Given the description of an element on the screen output the (x, y) to click on. 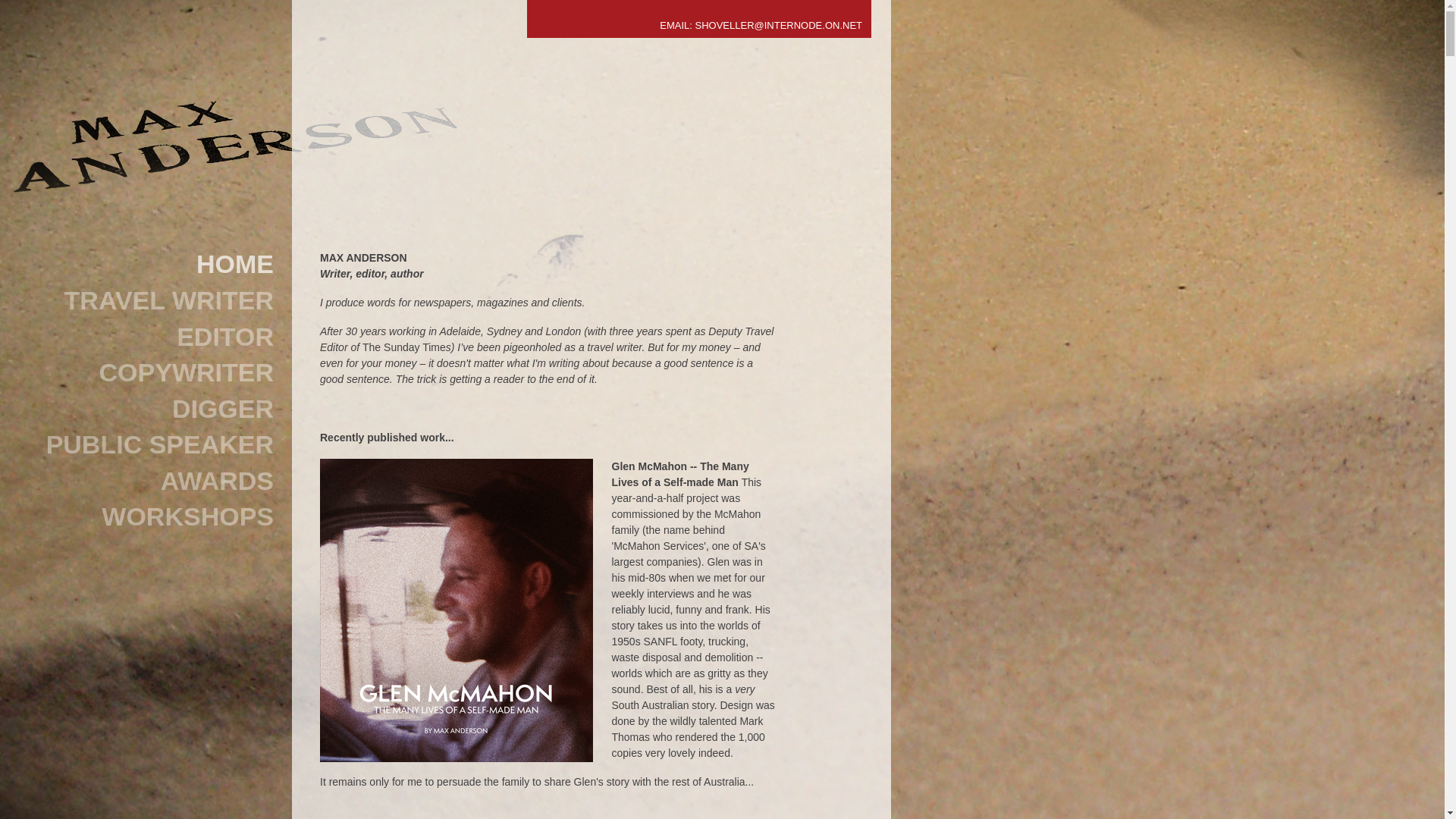
WORKSHOPS Element type: text (151, 516)
AWARDS Element type: text (151, 480)
SHOVELLER@INTERNODE.ON.NET Element type: text (778, 25)
TRAVEL WRITER Element type: text (151, 300)
EDITOR Element type: text (151, 336)
PUBLIC SPEAKER Element type: text (151, 444)
HOME Element type: text (151, 264)
DIGGER Element type: text (151, 408)
COPYWRITER Element type: text (151, 372)
